Given the description of an element on the screen output the (x, y) to click on. 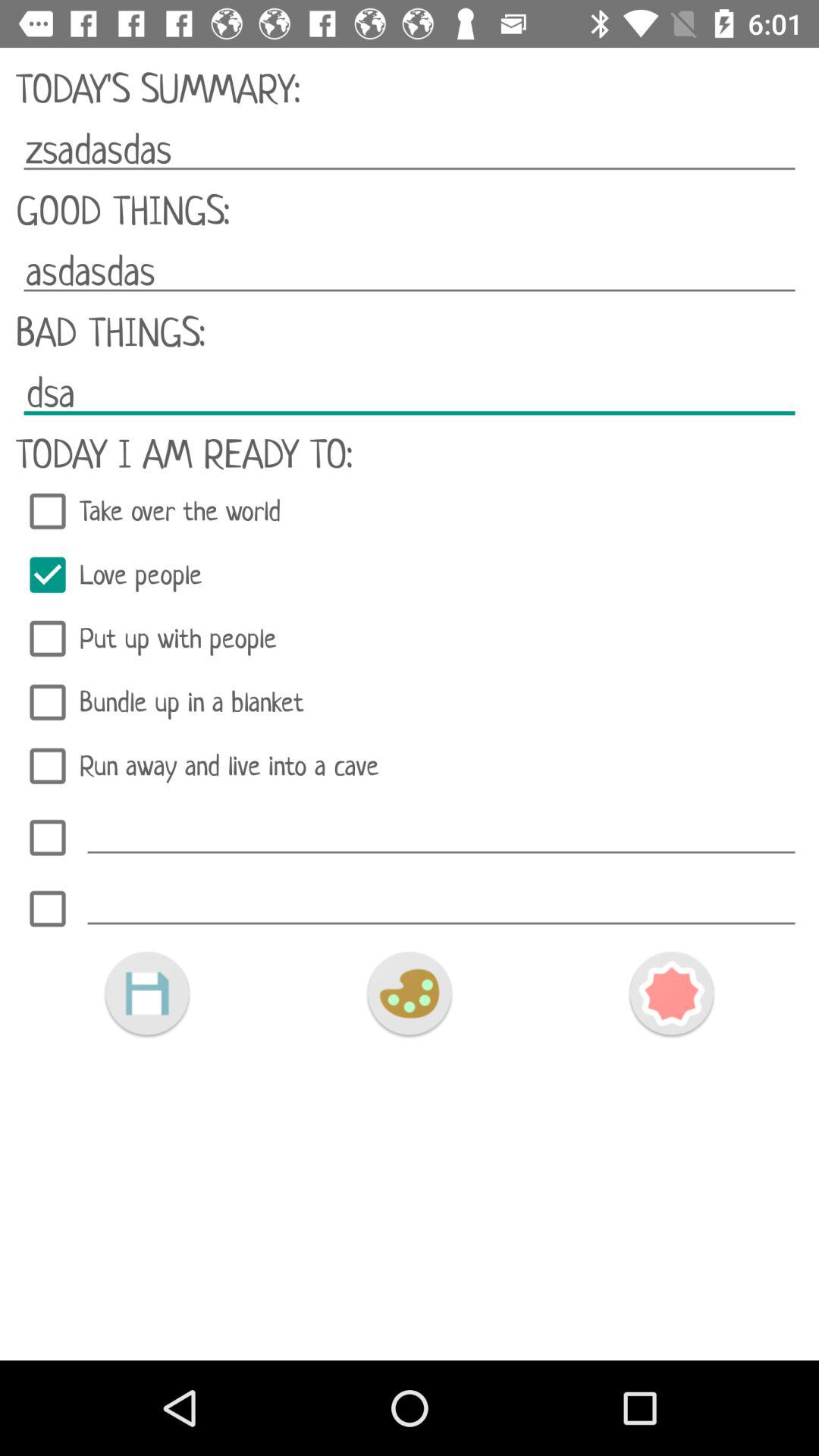
add another item to list (47, 908)
